Given the description of an element on the screen output the (x, y) to click on. 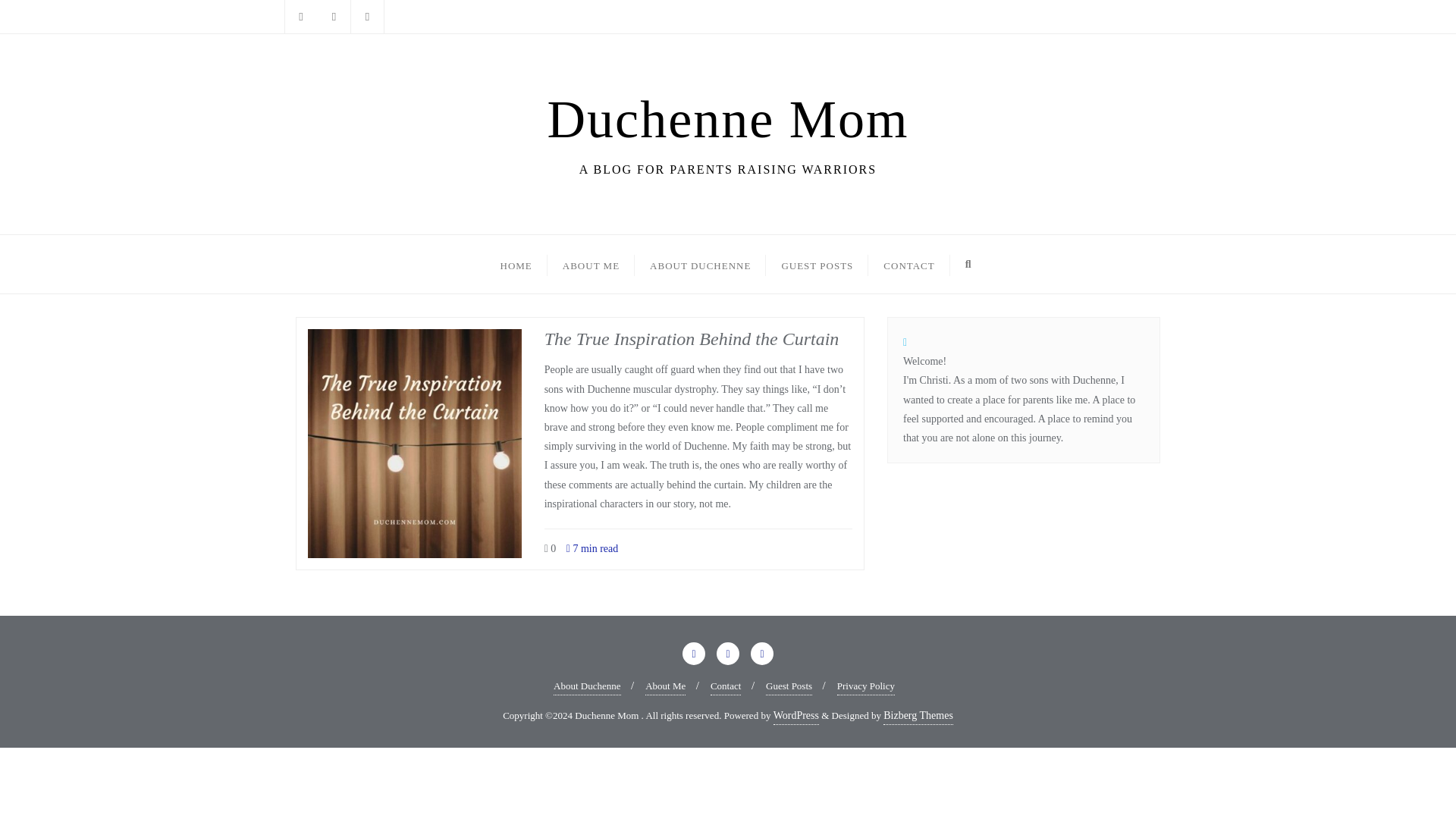
The True Inspiration Behind the Curtain (692, 338)
CONTACT (908, 264)
0 (550, 548)
Bizberg Themes (918, 715)
Privacy Policy (866, 686)
HOME (727, 130)
Guest Posts (515, 264)
ABOUT ME (788, 686)
About Me (590, 264)
